Given the description of an element on the screen output the (x, y) to click on. 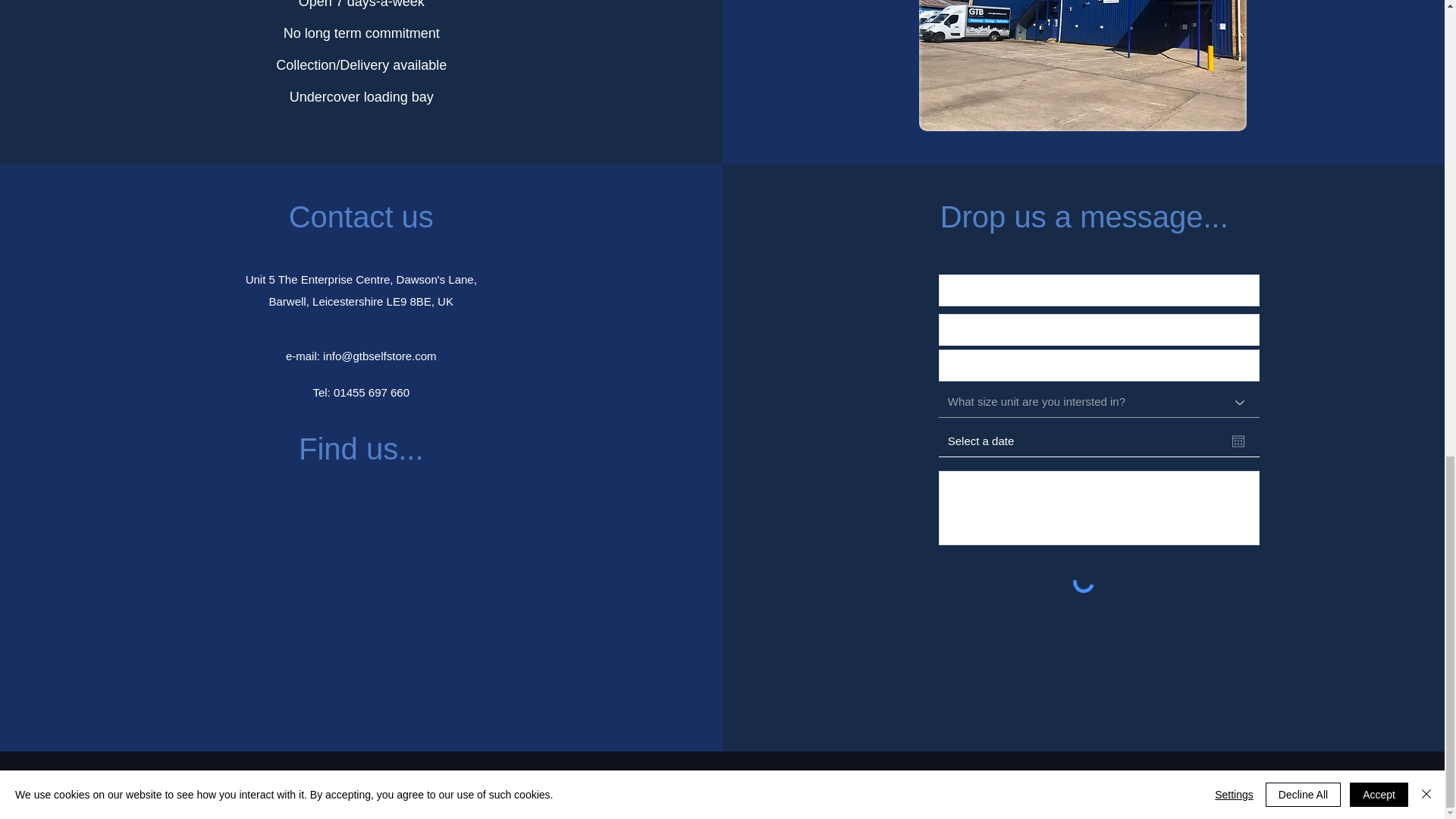
Google Maps (360, 613)
